Given the description of an element on the screen output the (x, y) to click on. 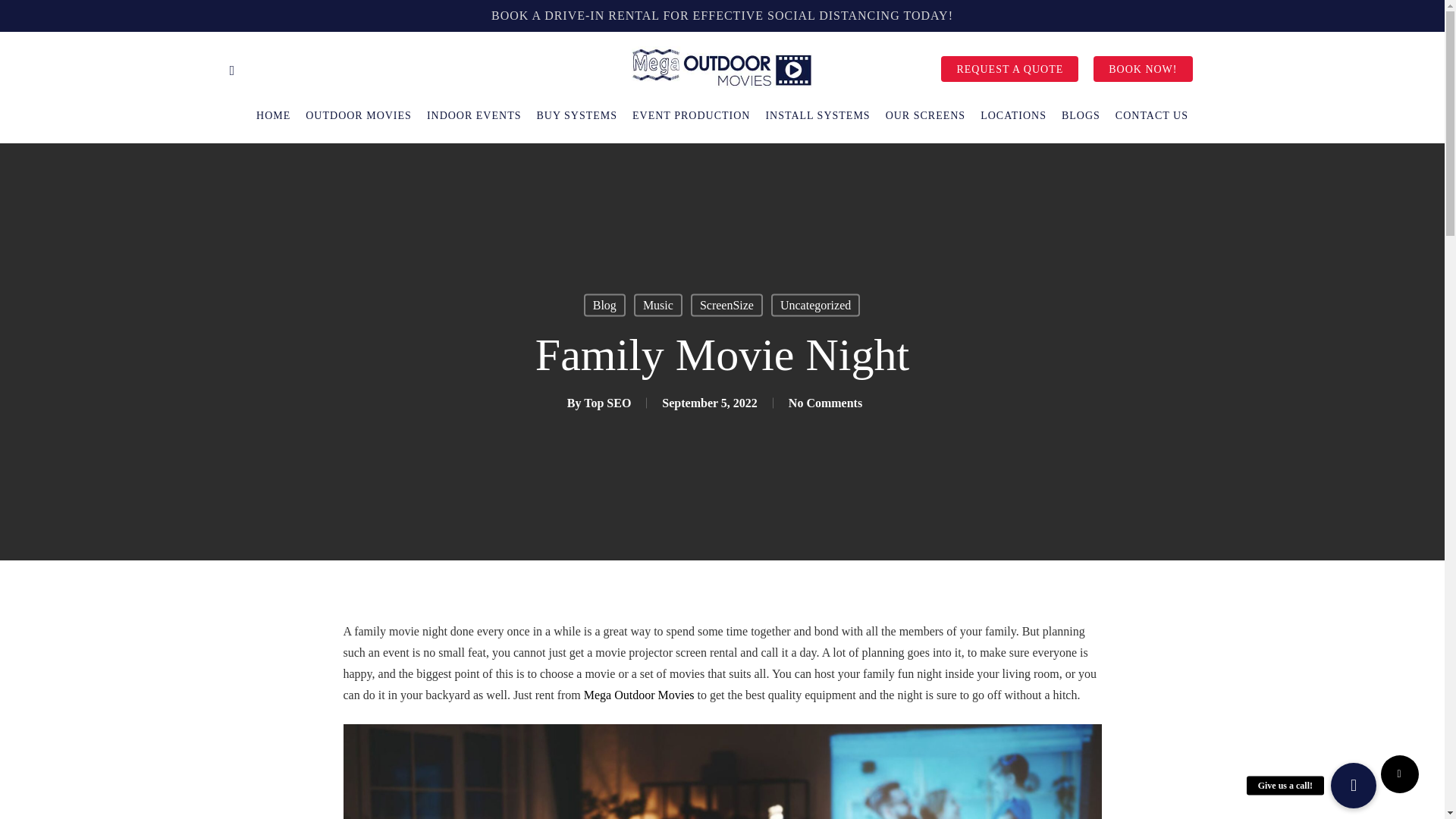
BLOGS (1080, 115)
EVENT PRODUCTION (690, 115)
LOCATIONS (1012, 115)
INSTALL SYSTEMS (817, 115)
HOME (272, 115)
OUR SCREENS (925, 115)
BUY SYSTEMS (576, 115)
REQUEST A QUOTE (1009, 69)
ScreenSize (726, 305)
Music (657, 305)
Uncategorized (815, 305)
OUTDOOR MOVIES (358, 115)
Mega Outdoor Movies (638, 694)
No Comments (825, 401)
